Given the description of an element on the screen output the (x, y) to click on. 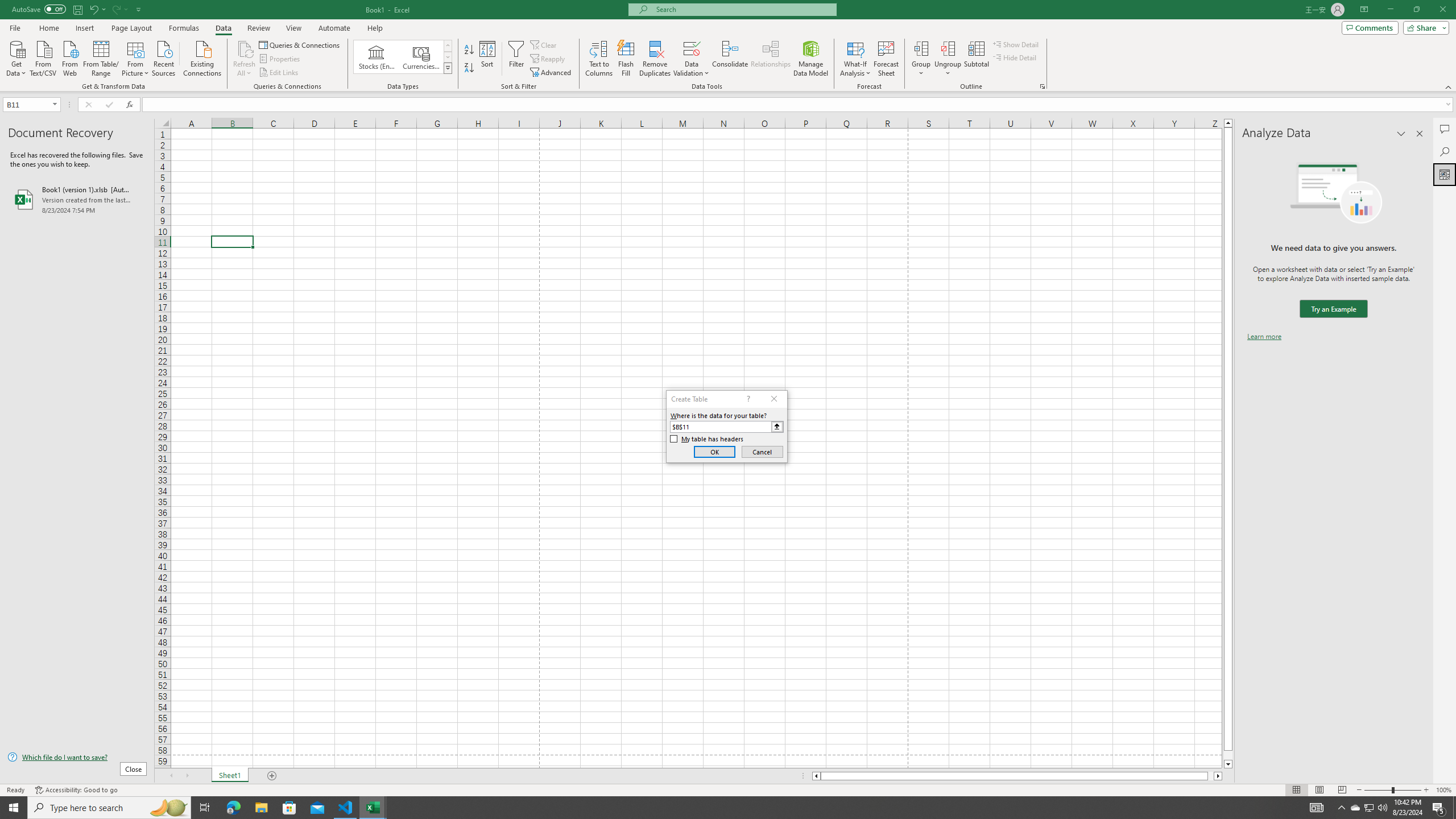
Review (258, 28)
Flash Fill (625, 58)
From Table/Range (100, 57)
Minimize (1390, 9)
Manage Data Model (810, 58)
Sheet1 (229, 775)
Queries & Connections (300, 44)
Sort Z to A (469, 67)
Sort A to Z (469, 49)
Data (223, 28)
From Text/CSV (43, 57)
Get Data (16, 57)
Reapply (548, 58)
Help (374, 28)
Microsoft search (742, 9)
